Given the description of an element on the screen output the (x, y) to click on. 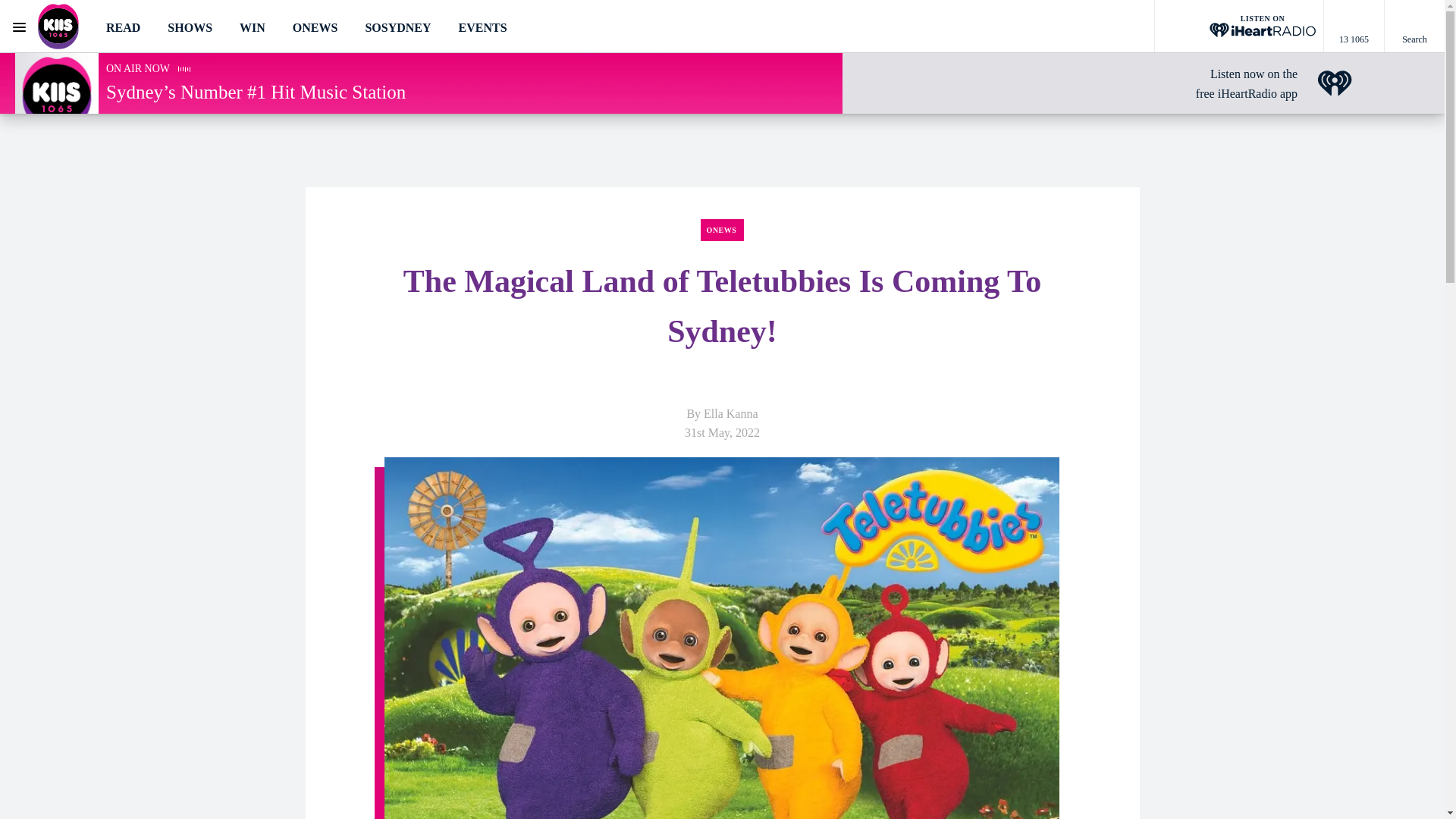
13 1065 (1353, 26)
EVENTS (482, 26)
iHeart (1334, 82)
ON AIR NOW (138, 68)
LISTEN ON (1238, 26)
SOSYDNEY (397, 26)
